Given the description of an element on the screen output the (x, y) to click on. 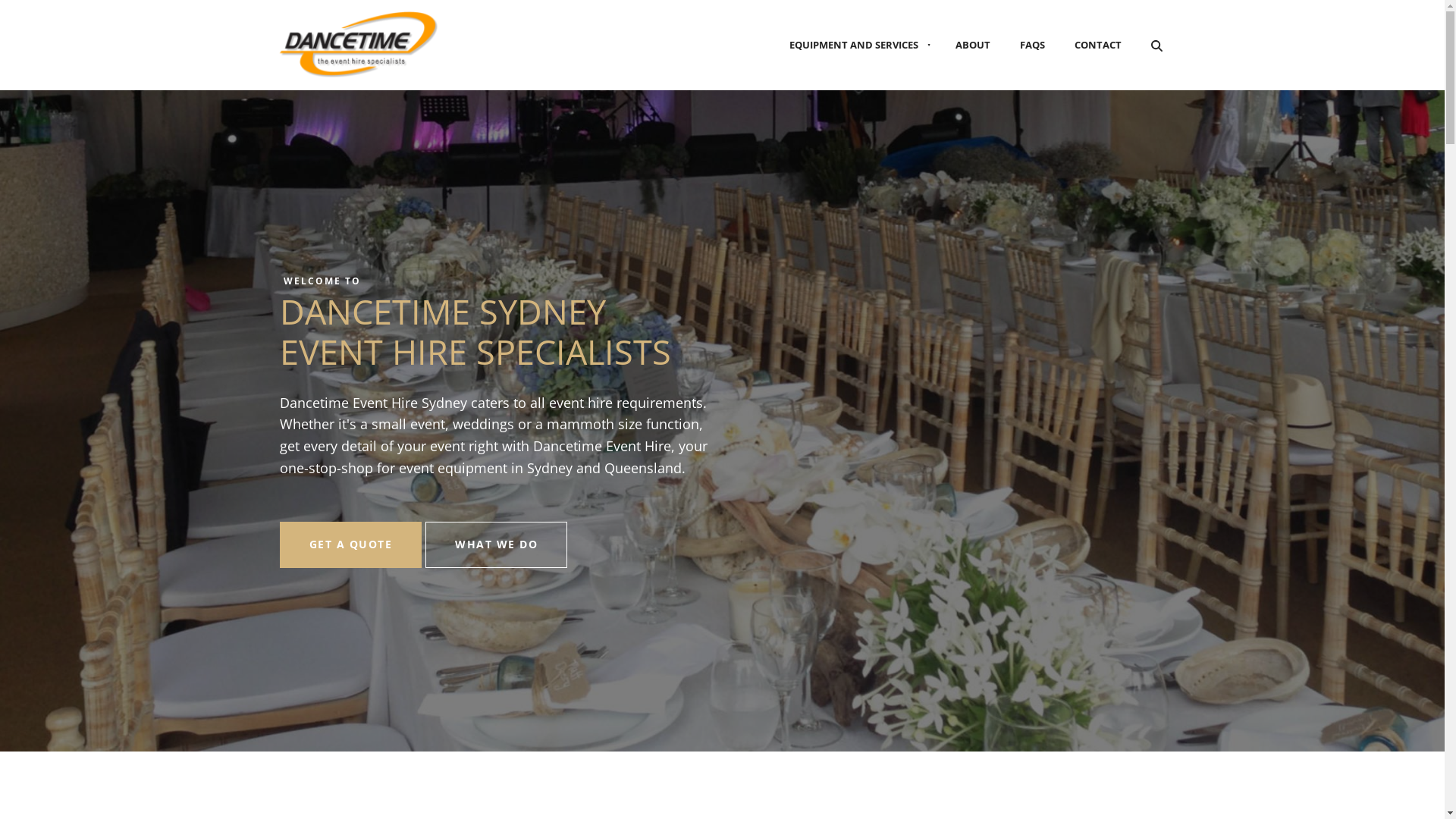
WHAT WE DO Element type: text (496, 544)
ABOUT Element type: text (972, 44)
EQUIPMENT AND SERVICES Element type: text (855, 44)
CONTACT Element type: text (1098, 44)
FAQS Element type: text (1032, 44)
GET A QUOTE Element type: text (350, 544)
